Given the description of an element on the screen output the (x, y) to click on. 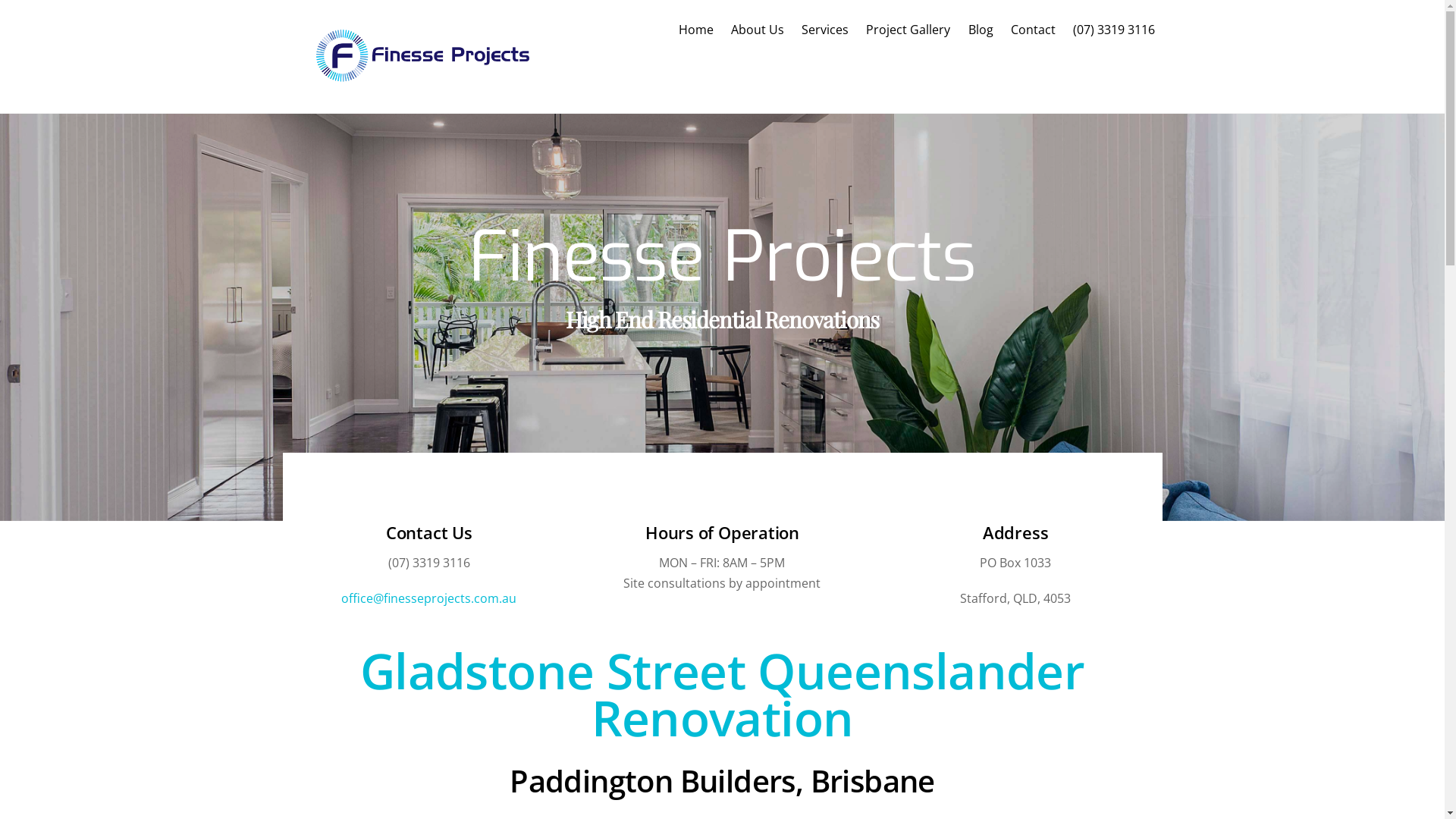
Blog Element type: text (980, 29)
Contact Element type: text (1032, 29)
Services Element type: text (825, 29)
office@finesseprojects.com.au Element type: text (428, 597)
About Us Element type: text (756, 29)
(07) 3319 3116 Element type: text (1113, 29)
Finesse Projects Element type: hover (426, 76)
Project Gallery Element type: text (908, 29)
Home Element type: text (695, 29)
unnamed Element type: hover (426, 53)
